Given the description of an element on the screen output the (x, y) to click on. 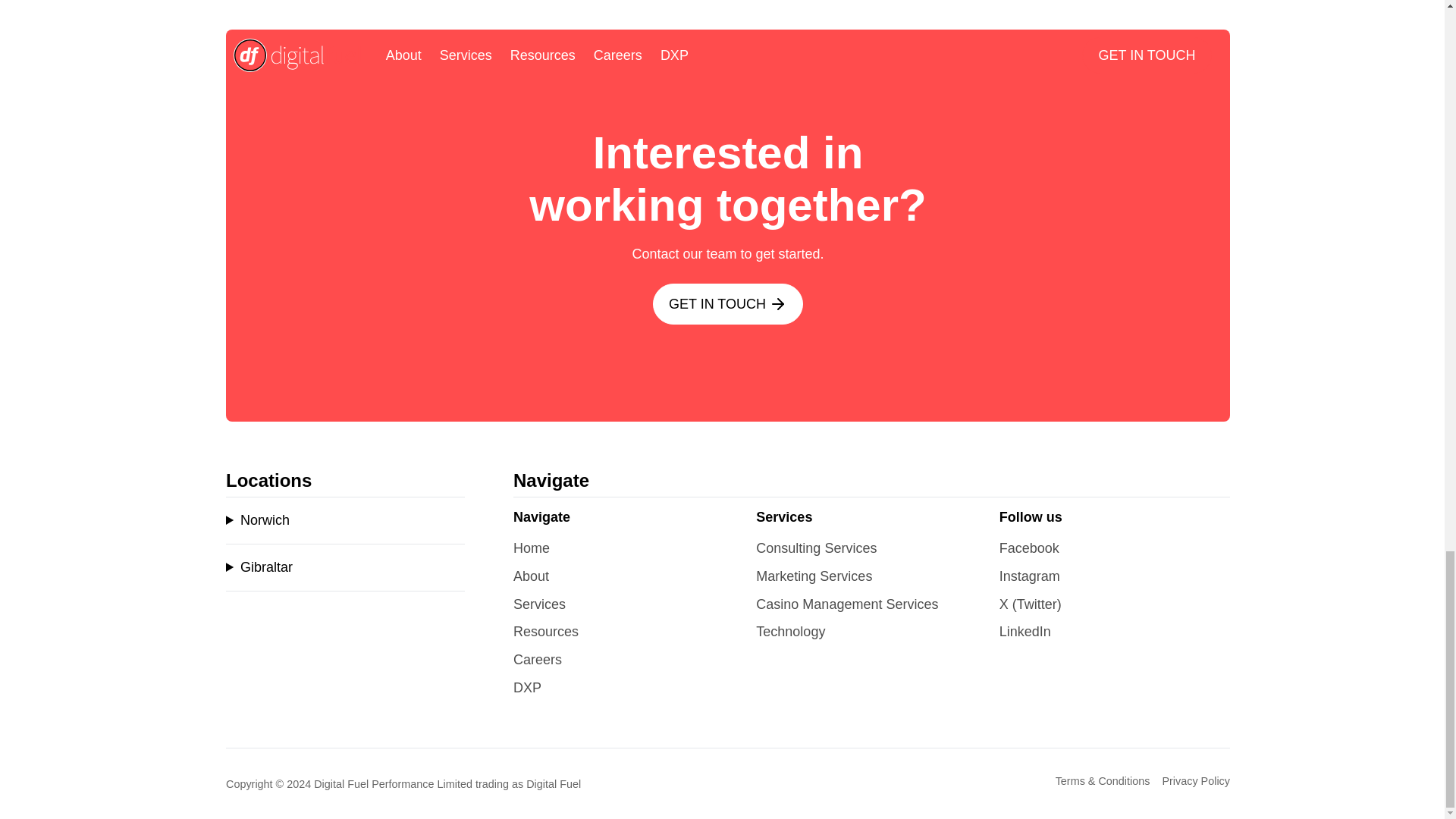
Marketing Services (813, 575)
GET IN TOUCH (727, 303)
DXP (527, 687)
Consulting Services (815, 548)
Services (539, 604)
Facebook (1028, 548)
Casino Management Services (846, 604)
Home (531, 548)
Instagram (1028, 575)
Technology (790, 631)
